Given the description of an element on the screen output the (x, y) to click on. 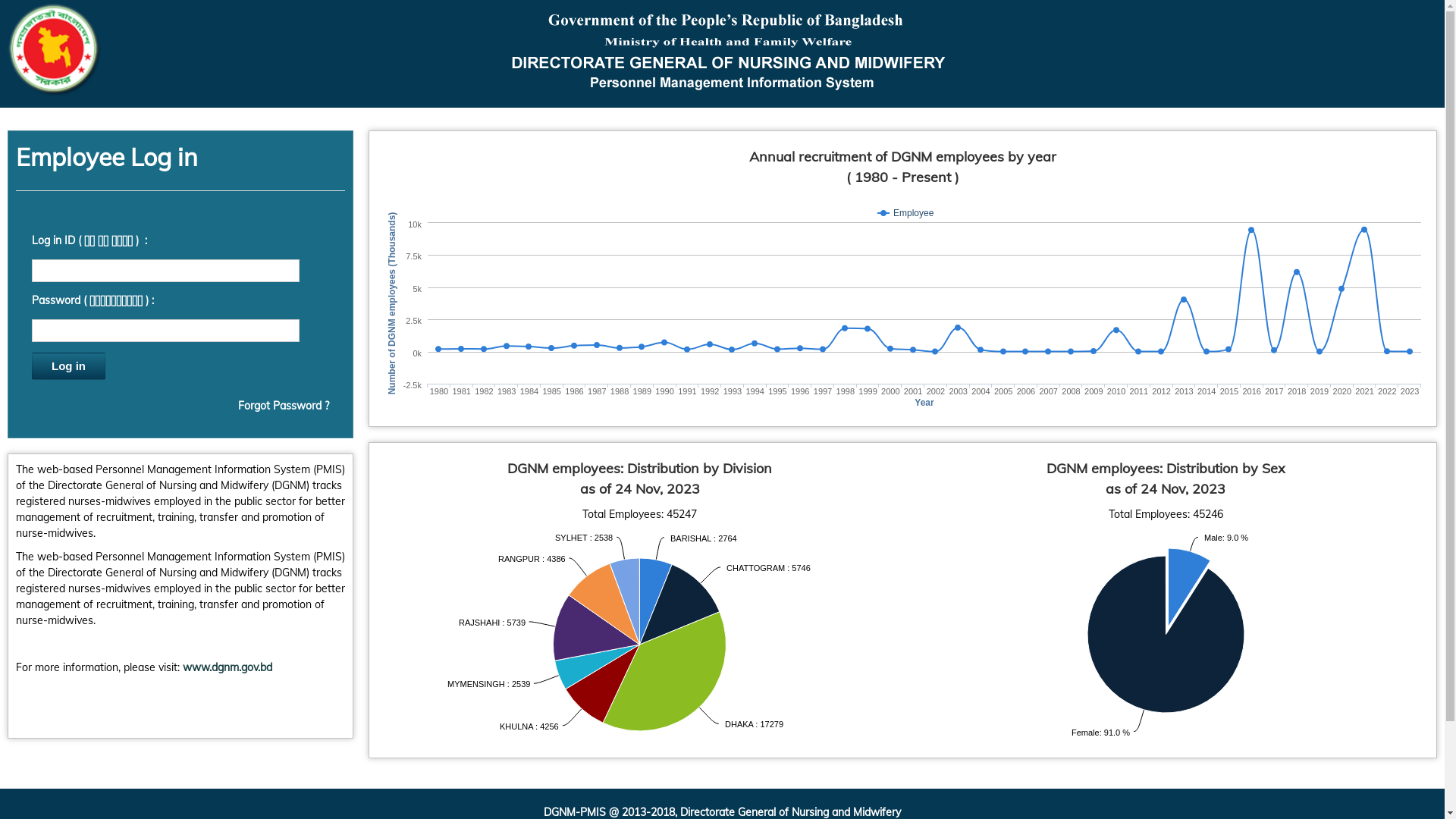
www.dgnm.gov.bd Element type: text (227, 667)
Forgot Password ? Element type: text (283, 405)
Log in Element type: text (68, 365)
